Given the description of an element on the screen output the (x, y) to click on. 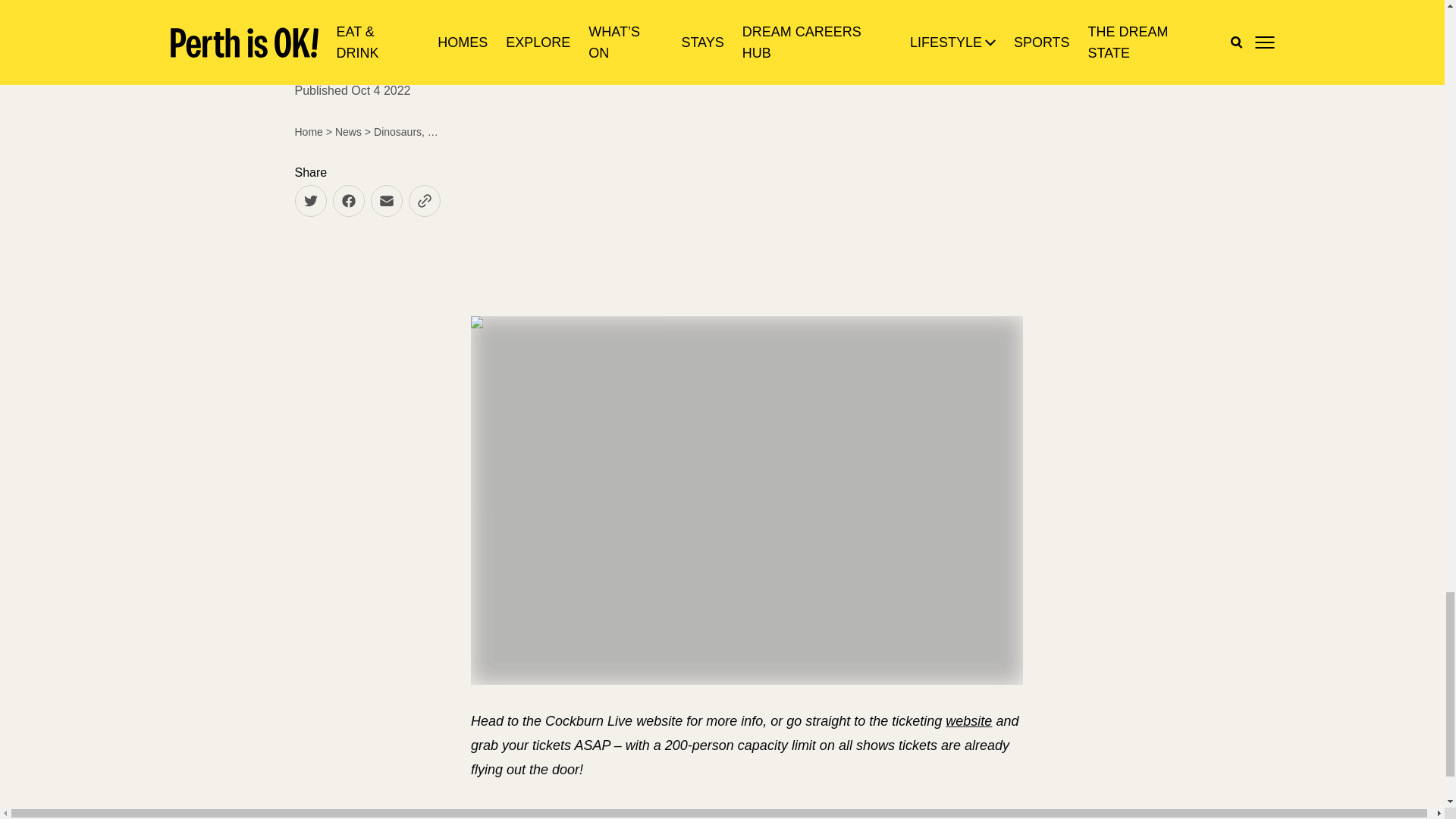
Matt Hale (558, 7)
Voila Variete Cabaret (659, 7)
website (967, 720)
